Given the description of an element on the screen output the (x, y) to click on. 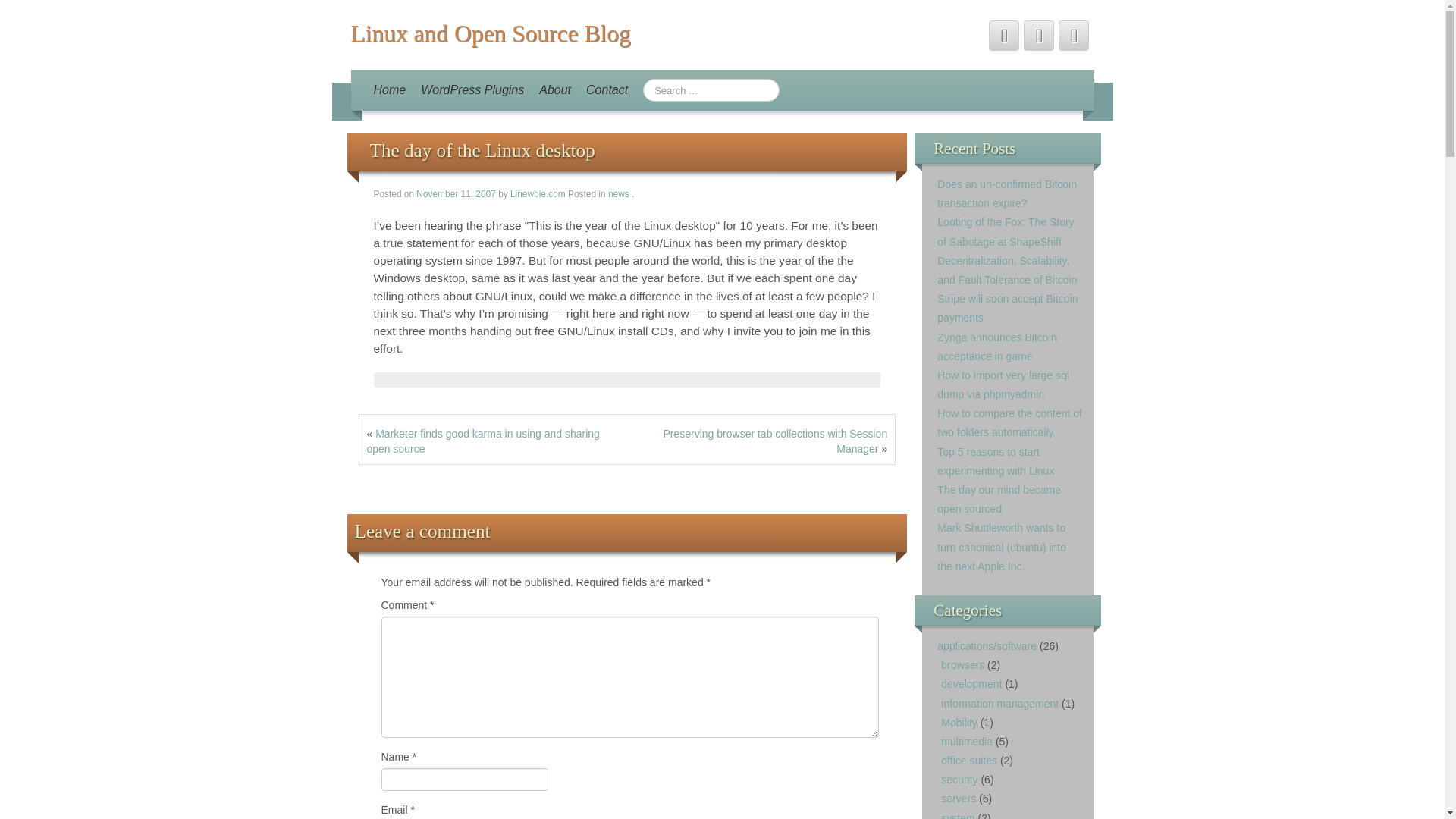
How to compare the content of two folders automatically (1009, 422)
The day our mind became open sourced (999, 499)
office suites (968, 760)
information management (999, 703)
8:32 pm (456, 194)
Permalink to The day of the Linux desktop (482, 150)
Looting of the Fox: The Story of Sabotage at ShapeShift (1005, 231)
Linux and Open Source Blog Googleplus (1073, 35)
Linux and Open Source Blog (490, 33)
The day of the Linux desktop (482, 150)
system (957, 815)
November 11, 2007 (456, 194)
Linux and Open Source Blog Twitter (1003, 35)
Contact (606, 89)
